Given the description of an element on the screen output the (x, y) to click on. 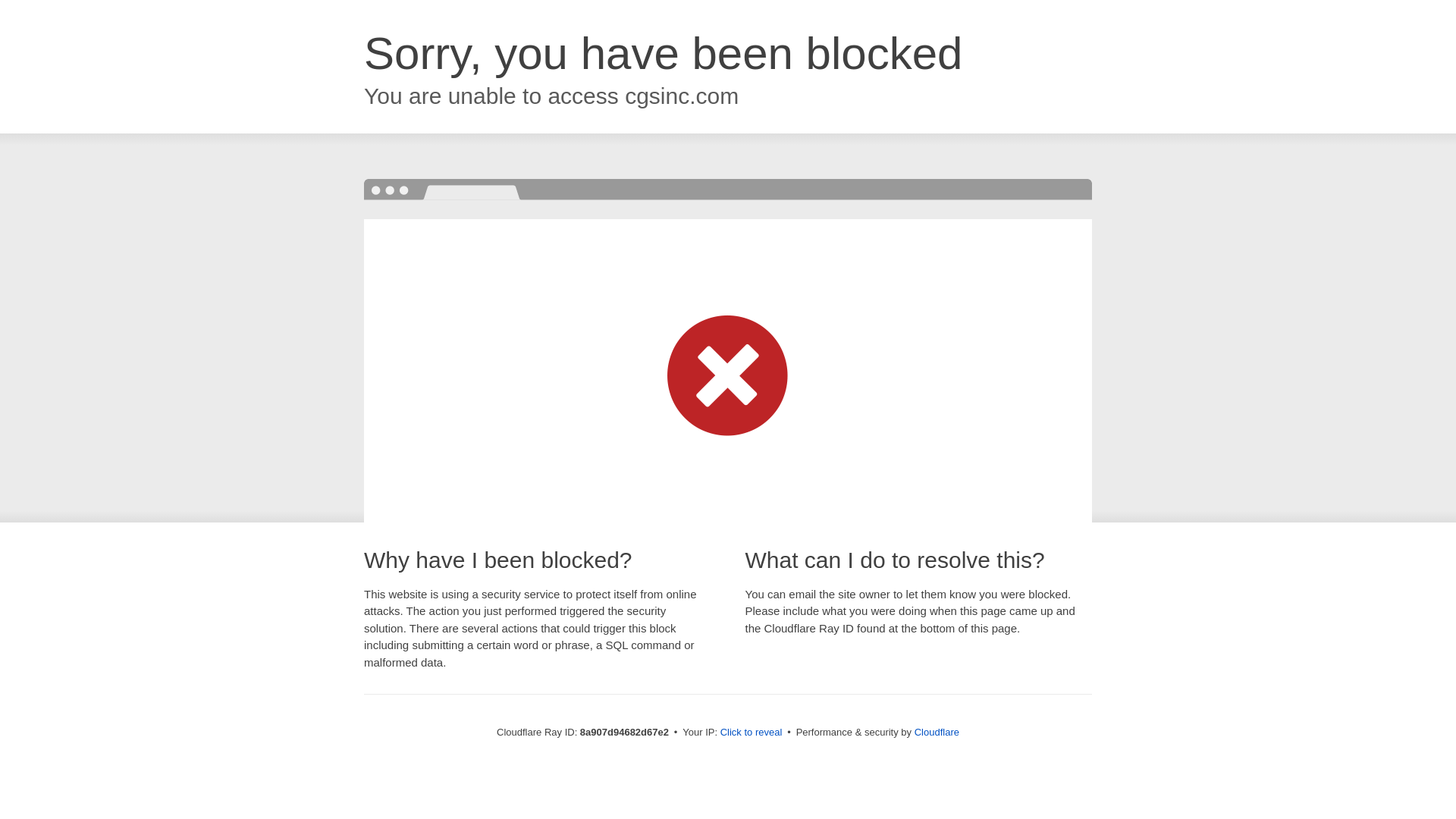
Cloudflare (936, 731)
Click to reveal (751, 732)
